Given the description of an element on the screen output the (x, y) to click on. 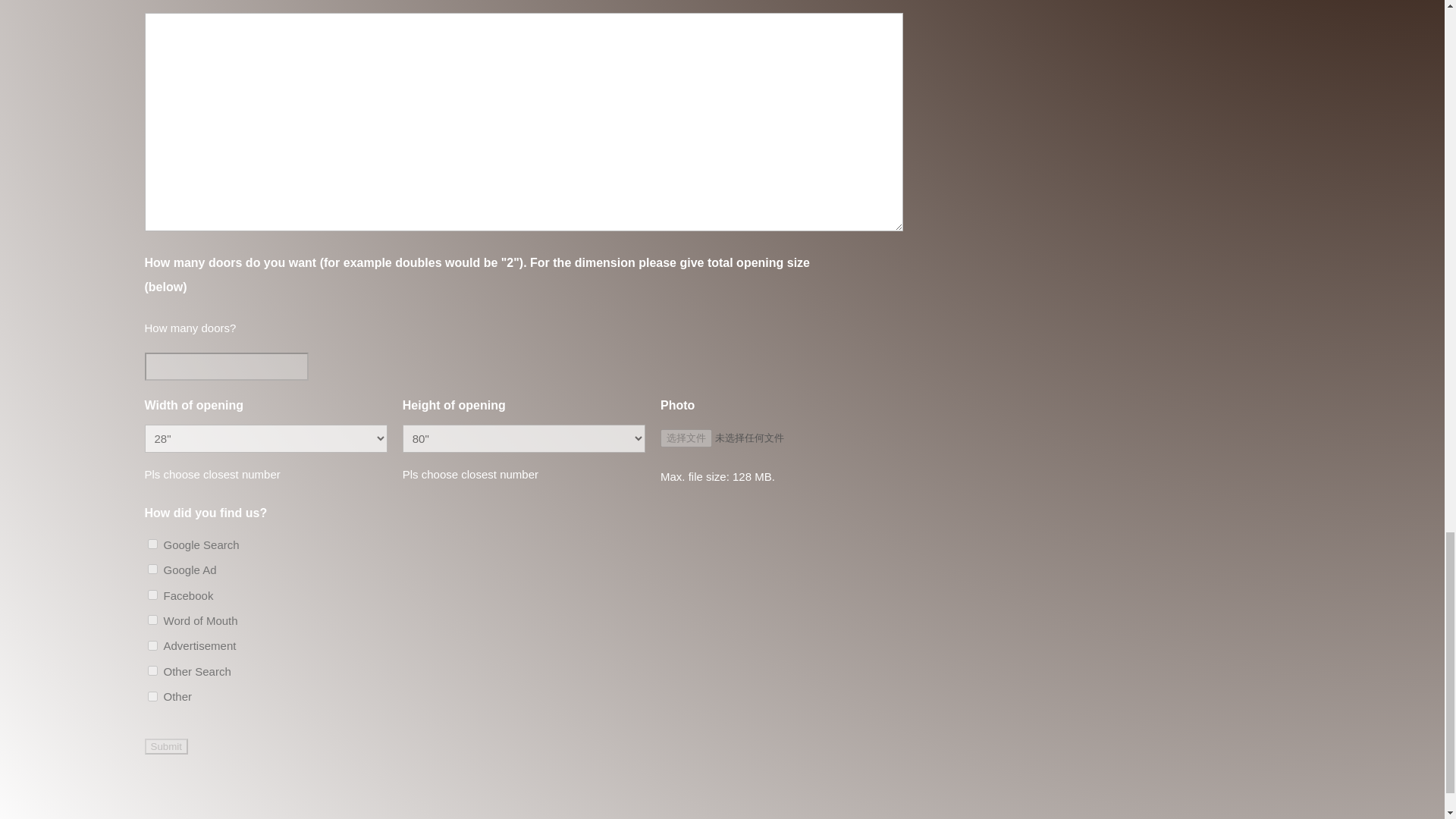
Other (152, 696)
Facebook (152, 594)
Other Search (152, 670)
Google Ad (152, 569)
Submit (165, 746)
Google Search (152, 543)
Word of Mouth (152, 619)
Advertisement (152, 645)
